Given the description of an element on the screen output the (x, y) to click on. 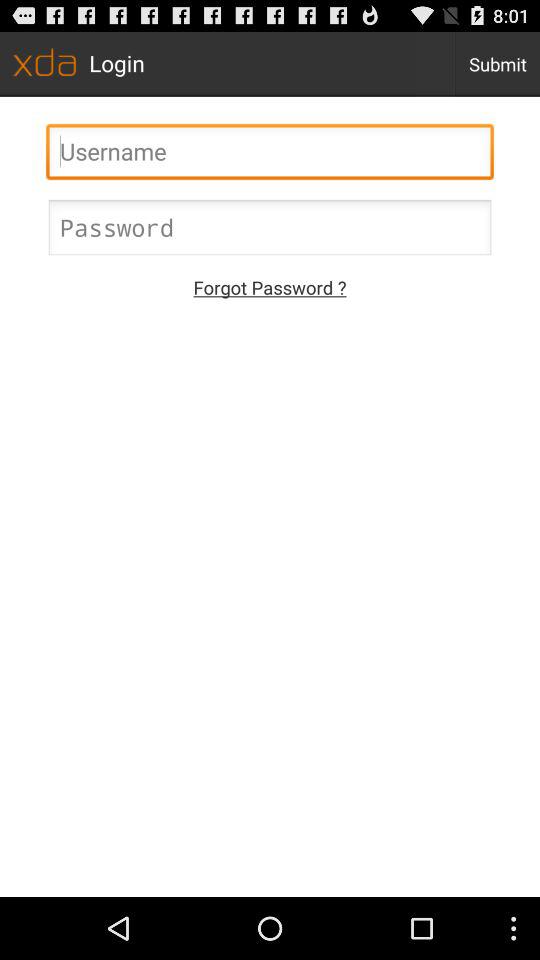
select the submit icon (498, 63)
